Given the description of an element on the screen output the (x, y) to click on. 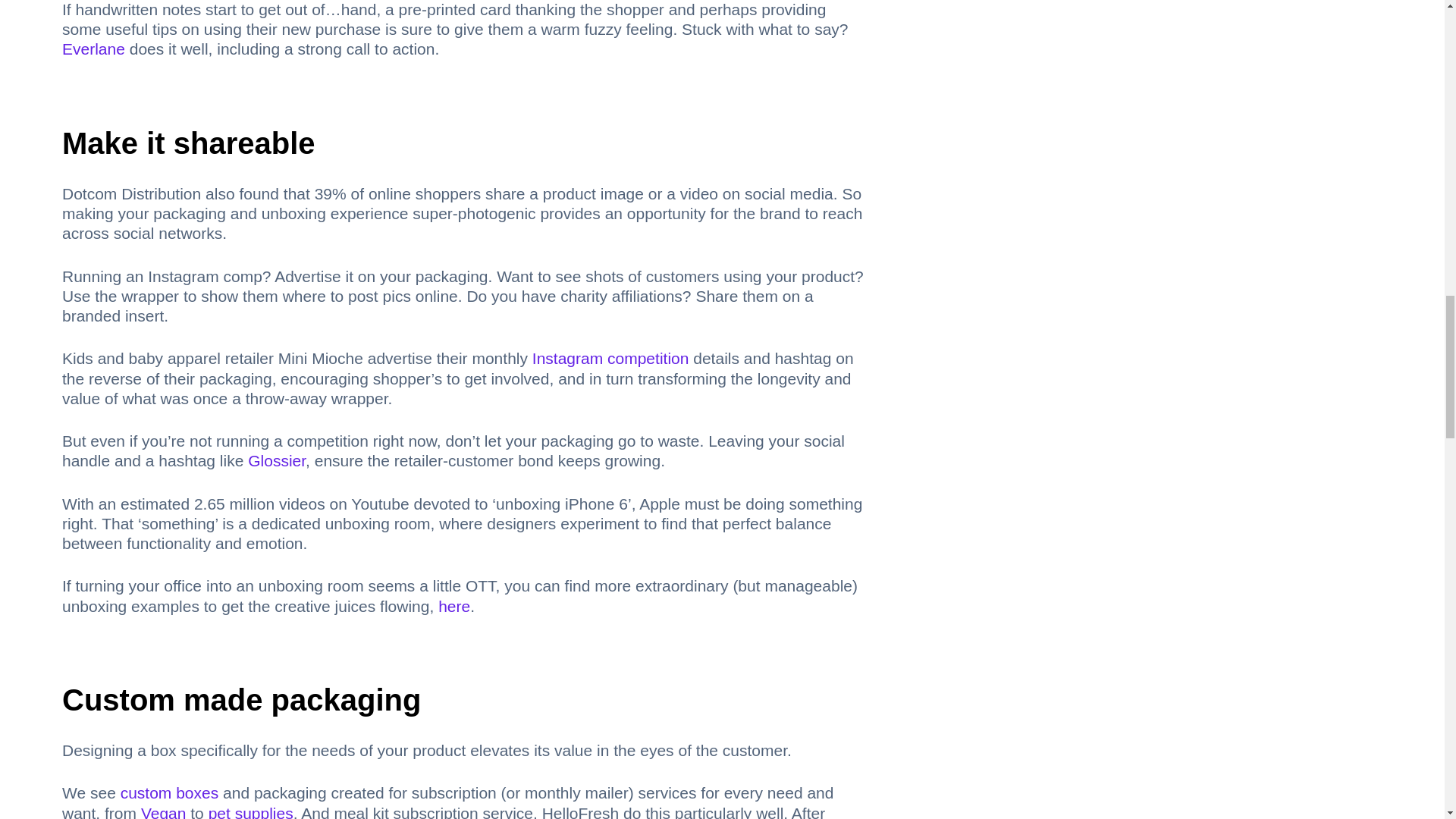
Instagram competition (610, 357)
Glossier (276, 460)
Everlane (93, 48)
